Given the description of an element on the screen output the (x, y) to click on. 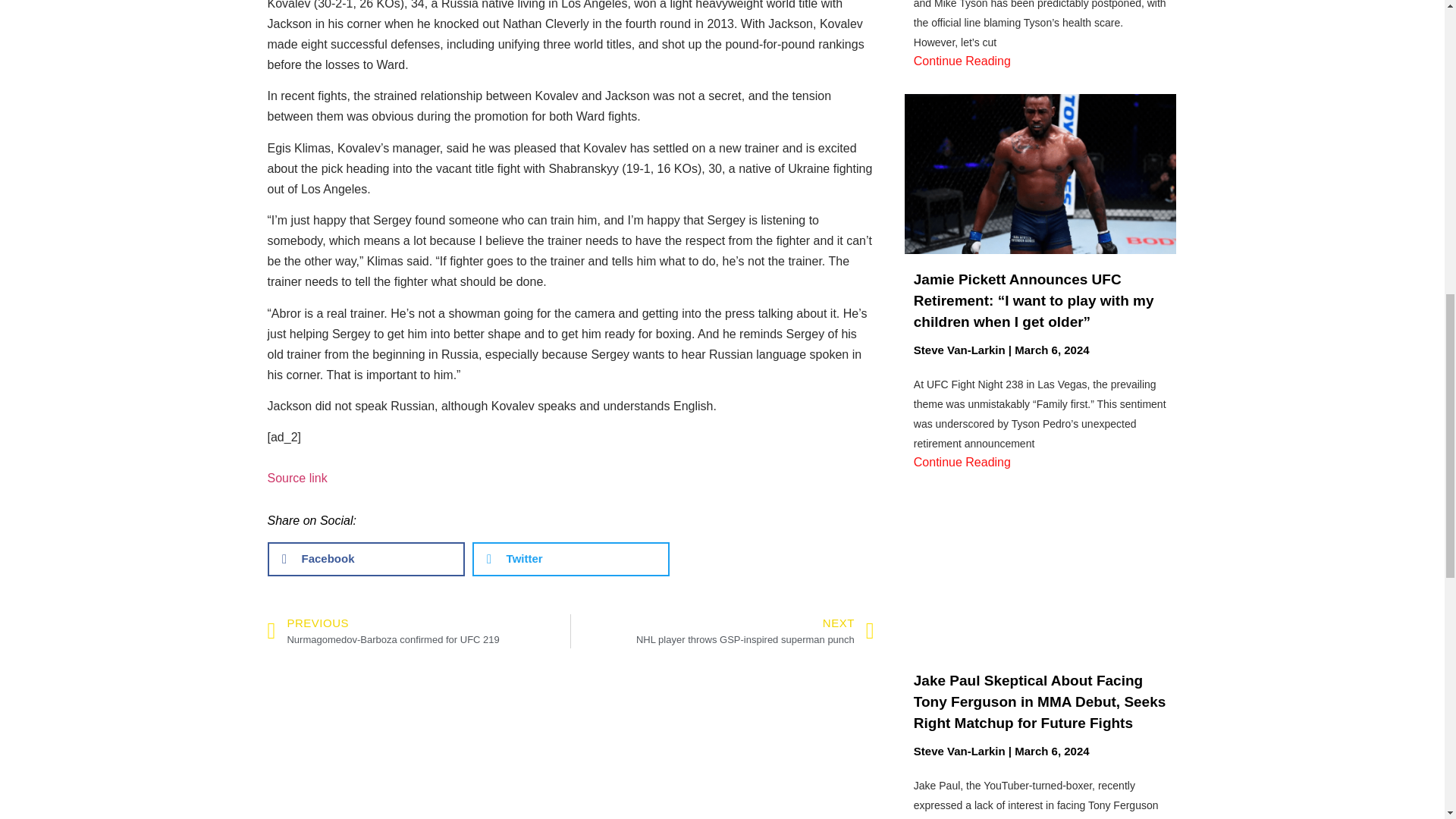
Source link (755, 631)
Continue Reading (296, 477)
Continue Reading (962, 60)
